Given the description of an element on the screen output the (x, y) to click on. 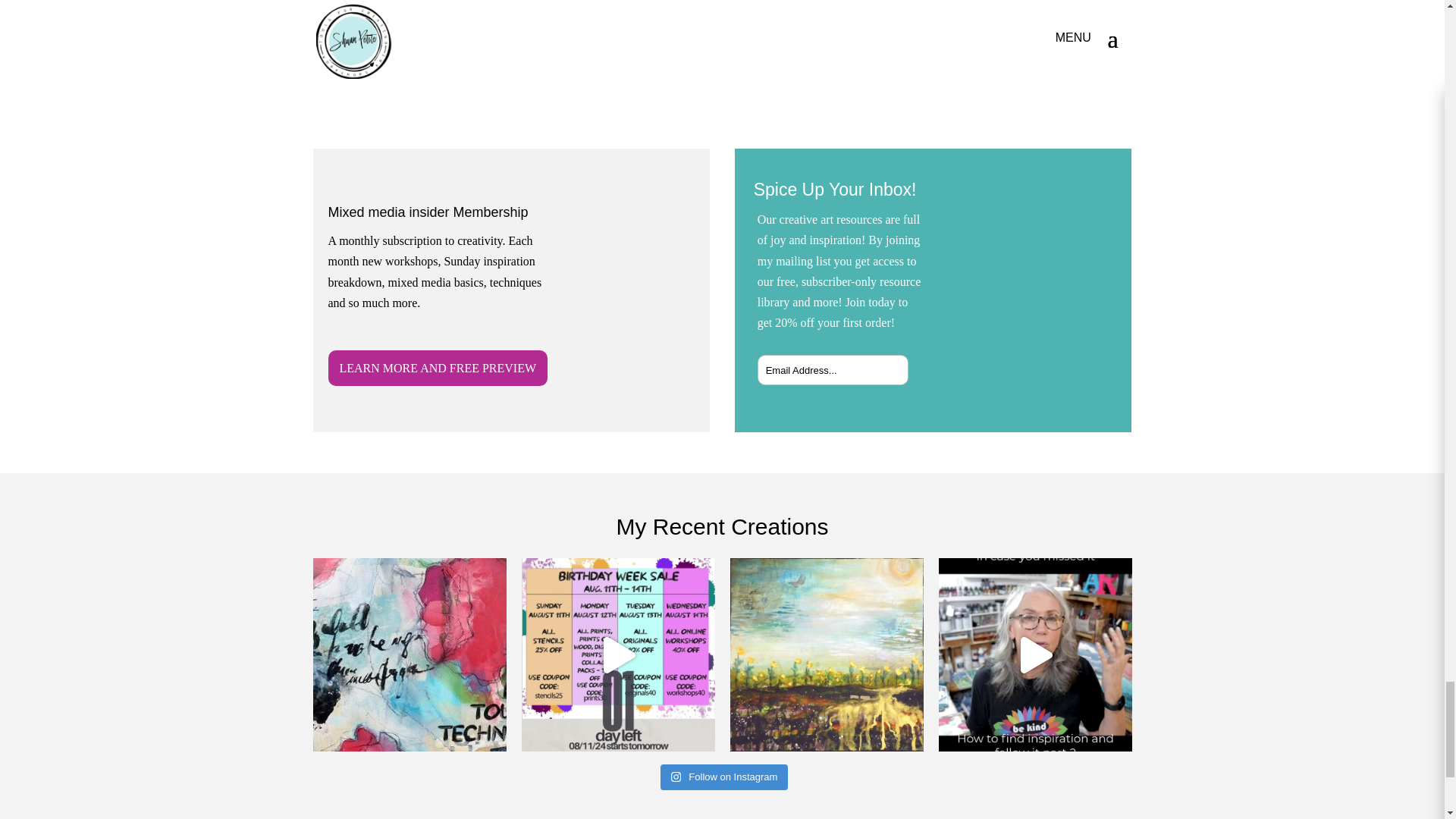
Submit (880, 362)
Submit (880, 362)
Follow on Instagram (725, 777)
Email (1038, 266)
Mixed media insider Membership (427, 212)
LEARN MORE AND FREE PREVIEW (437, 367)
